Given the description of an element on the screen output the (x, y) to click on. 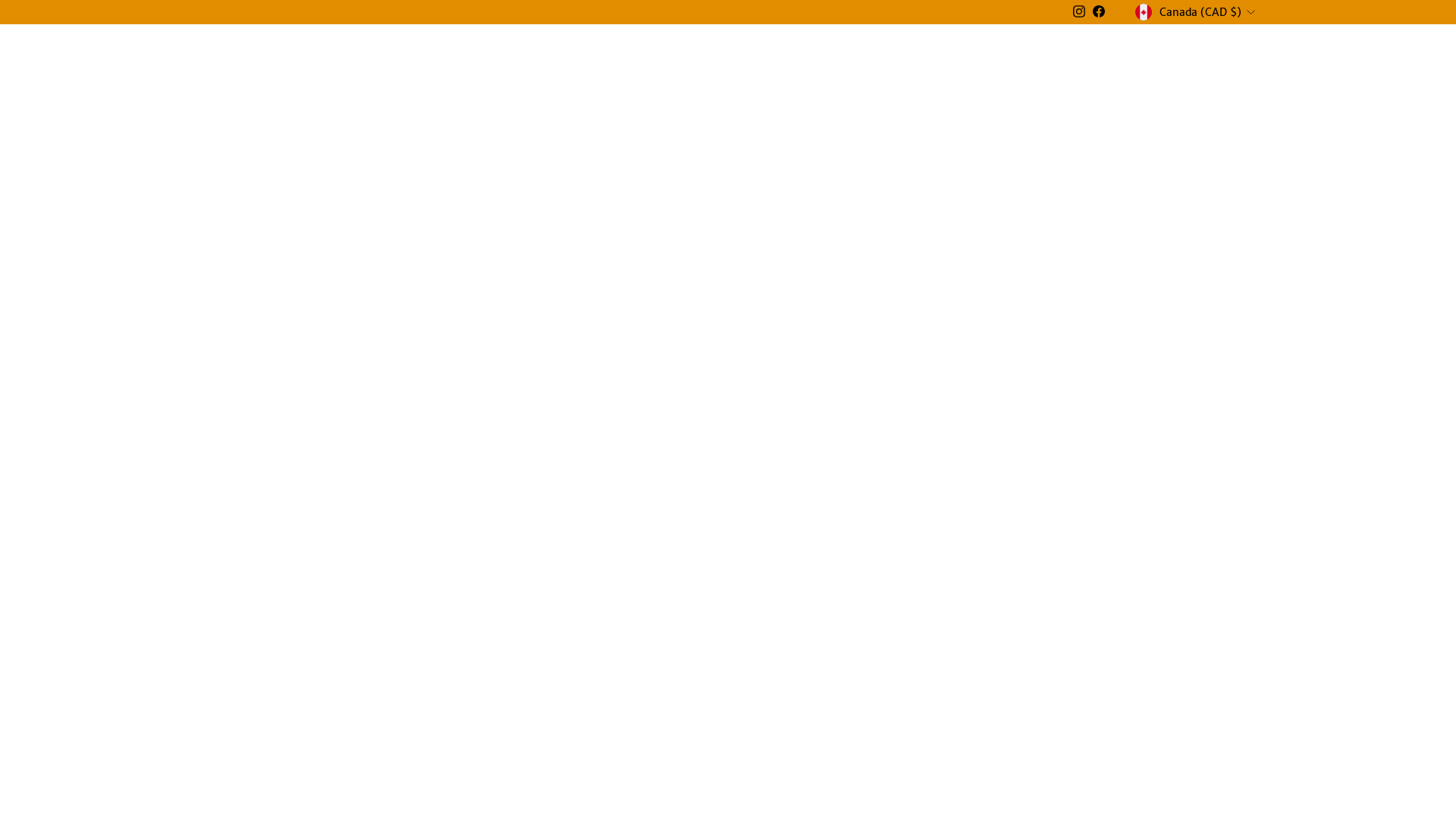
instagram
Instagram Element type: text (1078, 11)
Facebook Element type: text (1098, 11)
Canada (CAD $) Element type: text (1196, 12)
